Given the description of an element on the screen output the (x, y) to click on. 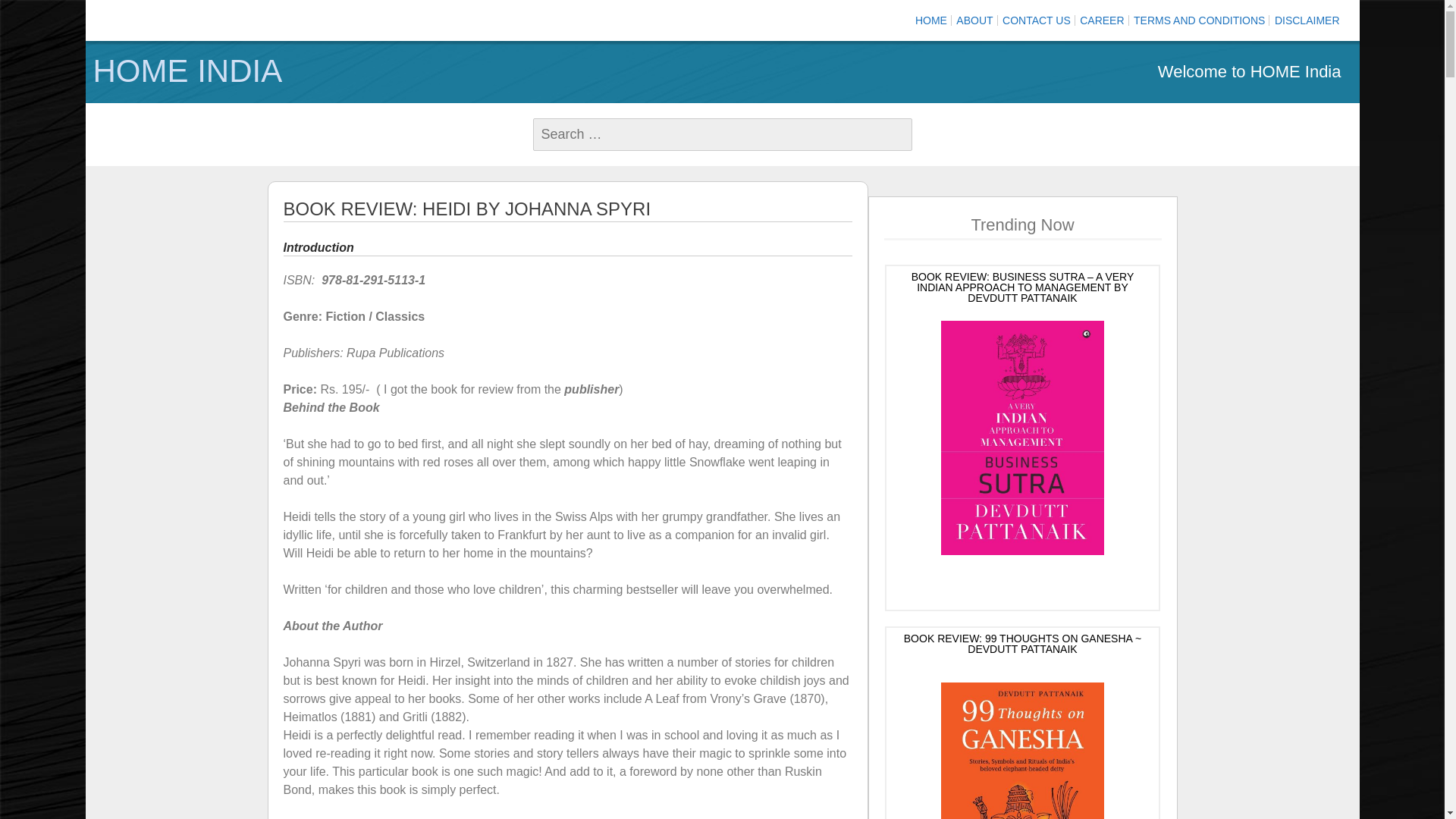
HOME INDIA (403, 70)
TERMS AND CONDITIONS (1199, 20)
HOME (931, 20)
Search (38, 13)
ABOUT (974, 20)
CAREER (1101, 20)
DISCLAIMER (1306, 20)
CONTACT US (1036, 20)
